Given the description of an element on the screen output the (x, y) to click on. 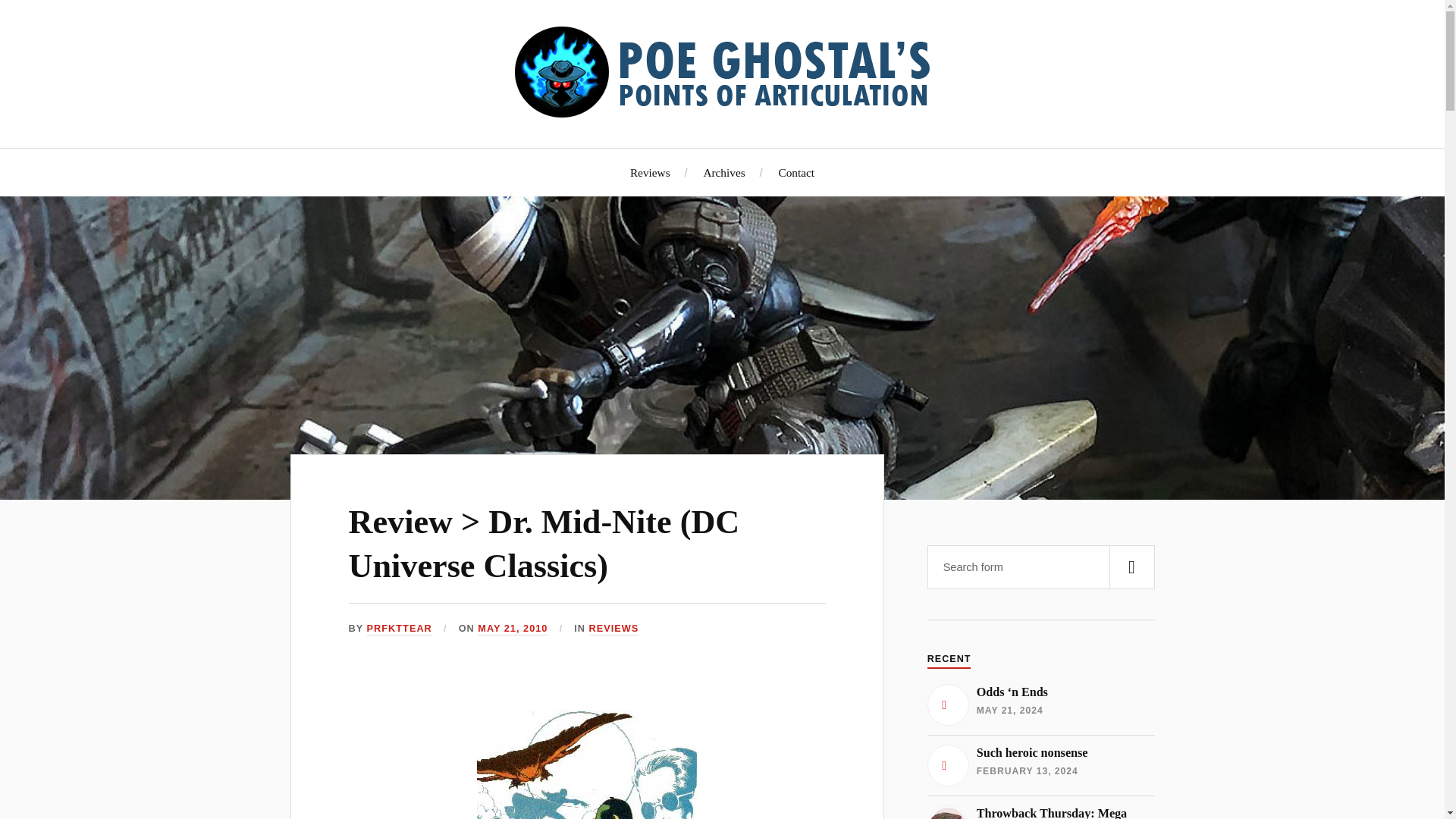
MAY 21, 2010 (512, 628)
REVIEWS (613, 628)
PRFKTTEAR (399, 628)
doctormidnite (587, 764)
Posts by PrfktTear (399, 628)
